Given the description of an element on the screen output the (x, y) to click on. 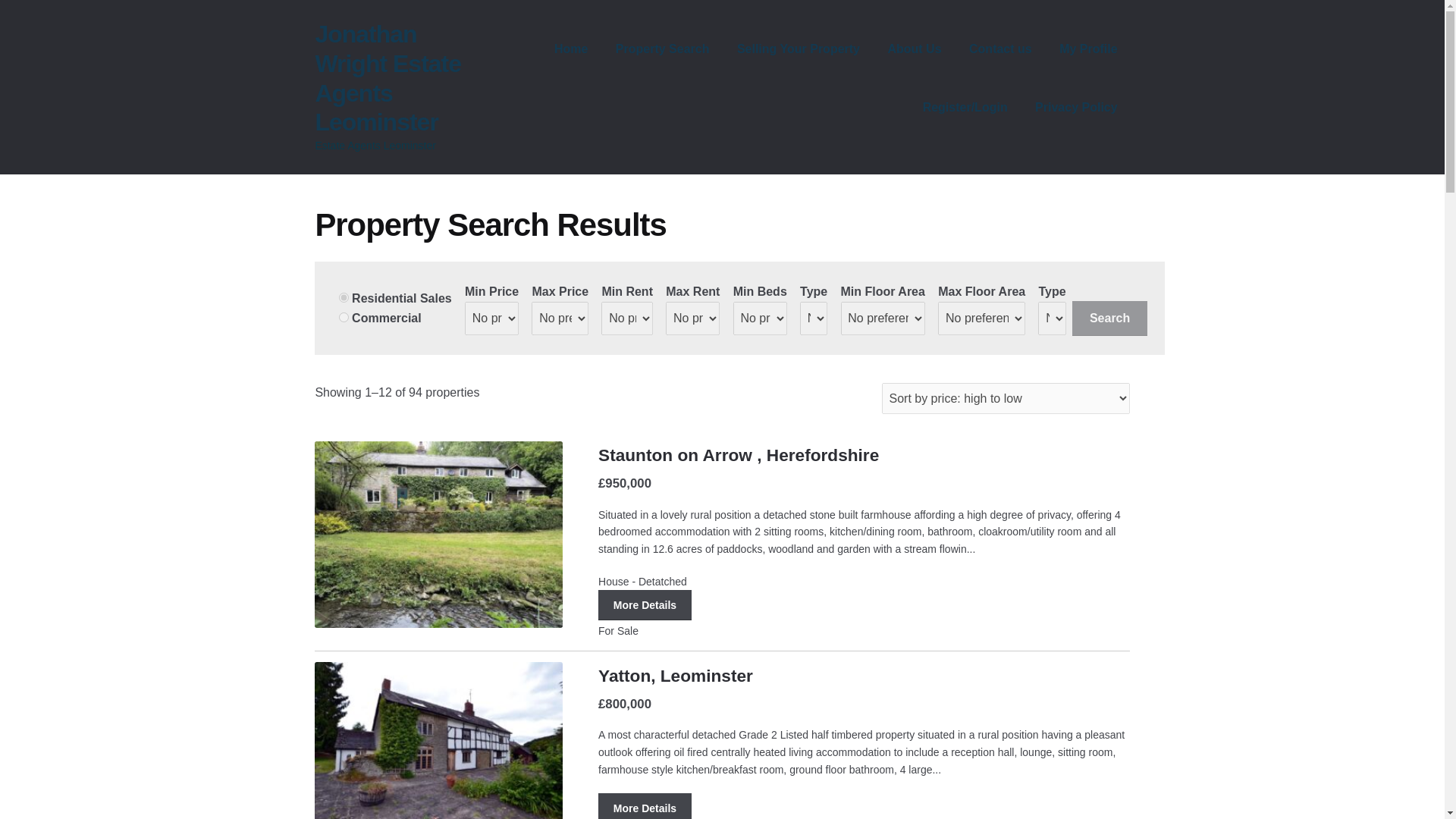
Yatton, Leominster (675, 675)
residential-sales (344, 297)
About Us (914, 48)
Staunton on Arrow , Herefordshire (738, 455)
Selling Your Property (798, 48)
Privacy Policy (1076, 108)
commercial (344, 317)
Property Search (663, 48)
My Profile (1087, 48)
Home (570, 48)
Jonathan Wright Estate Agents Leominster (387, 78)
Contact us (999, 48)
Search (1109, 318)
More Details (644, 604)
More Details (644, 806)
